Given the description of an element on the screen output the (x, y) to click on. 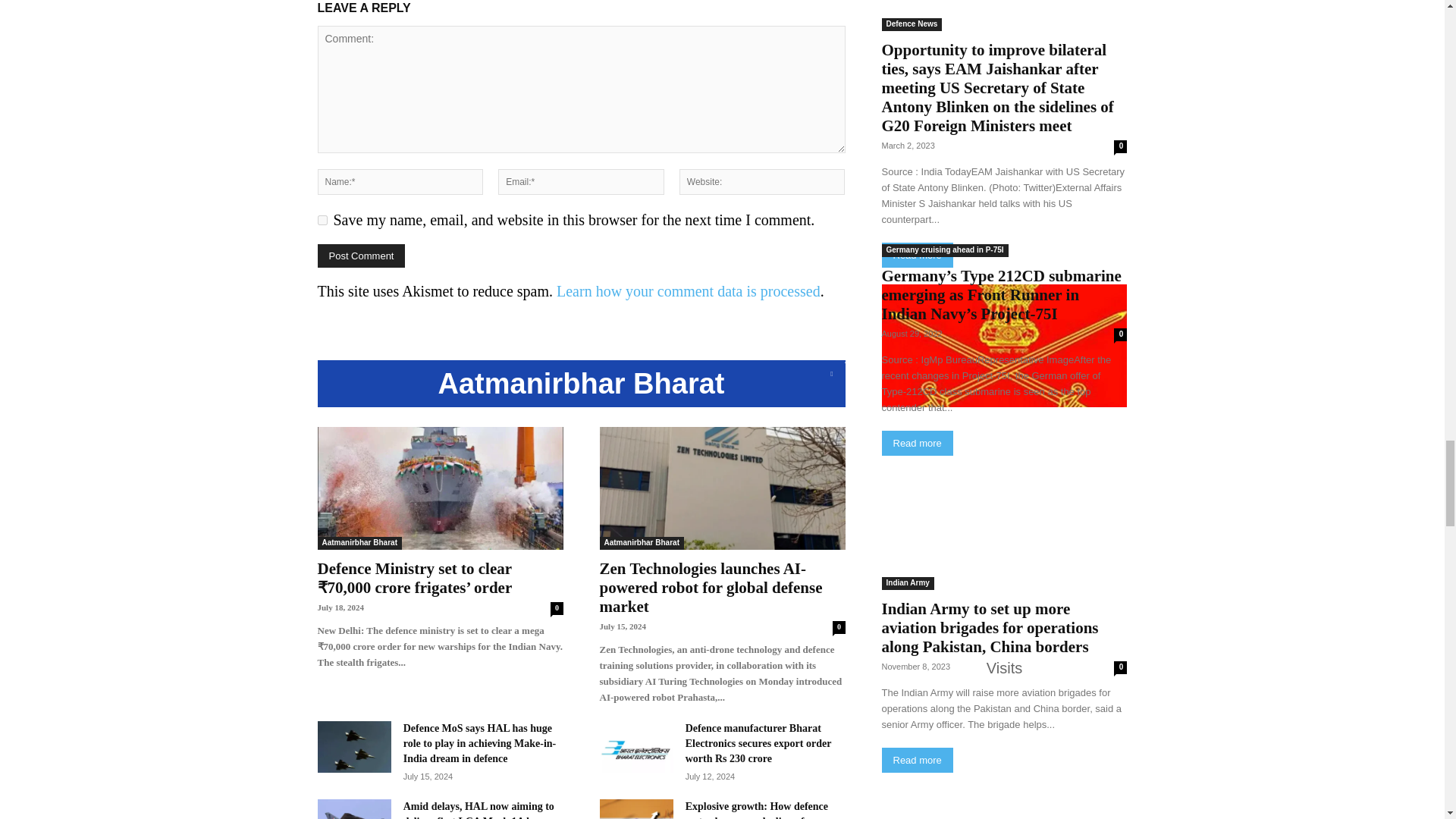
Post Comment (360, 255)
yes (321, 220)
